Given the description of an element on the screen output the (x, y) to click on. 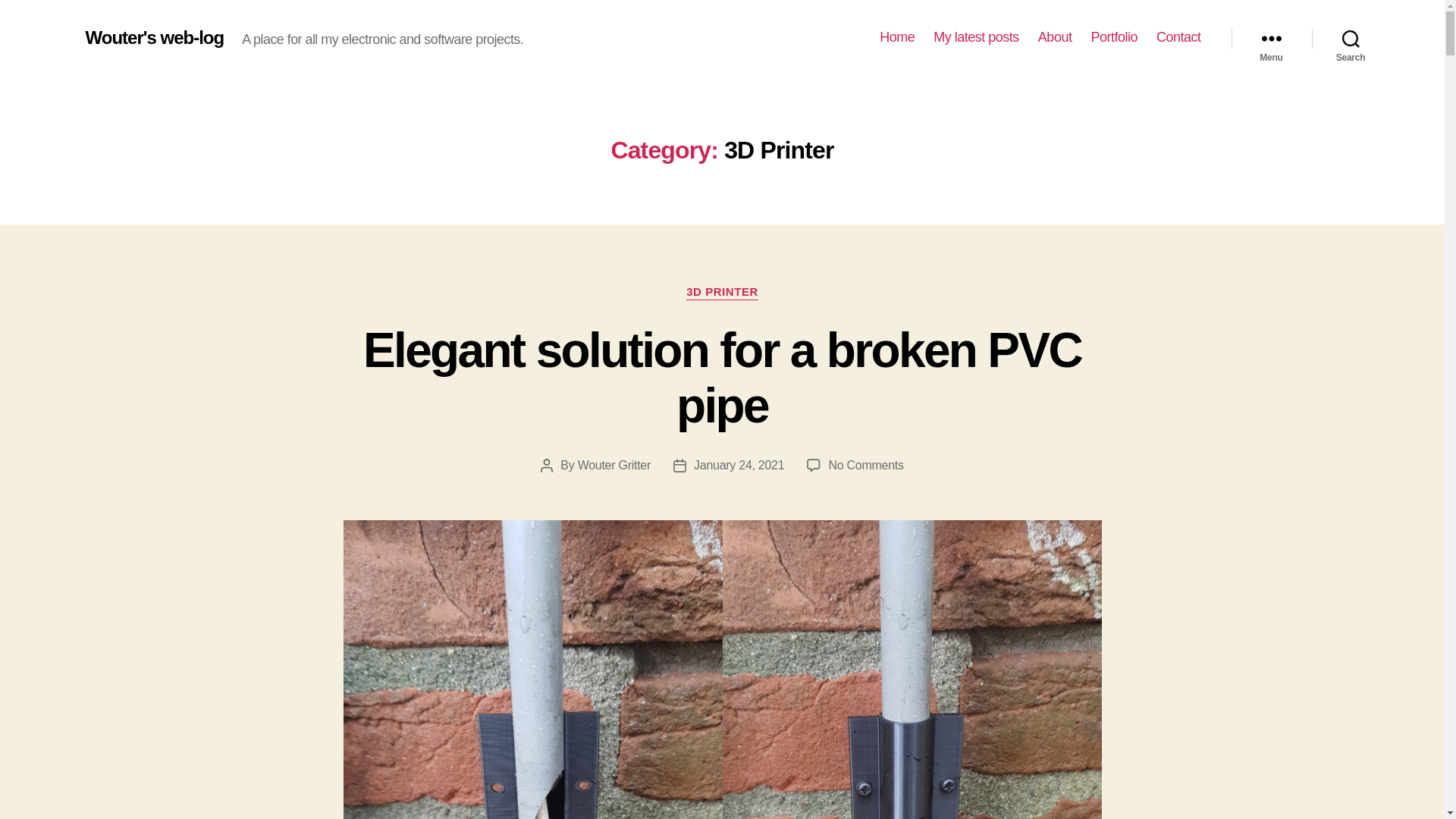
3D PRINTER (721, 292)
My latest posts (865, 464)
Elegant solution for a broken PVC pipe (976, 37)
Menu (721, 377)
January 24, 2021 (1271, 37)
About (739, 464)
Contact (1054, 37)
Portfolio (1178, 37)
Wouter's web-log (1113, 37)
Home (154, 37)
Search (896, 37)
Wouter Gritter (1350, 37)
